Given the description of an element on the screen output the (x, y) to click on. 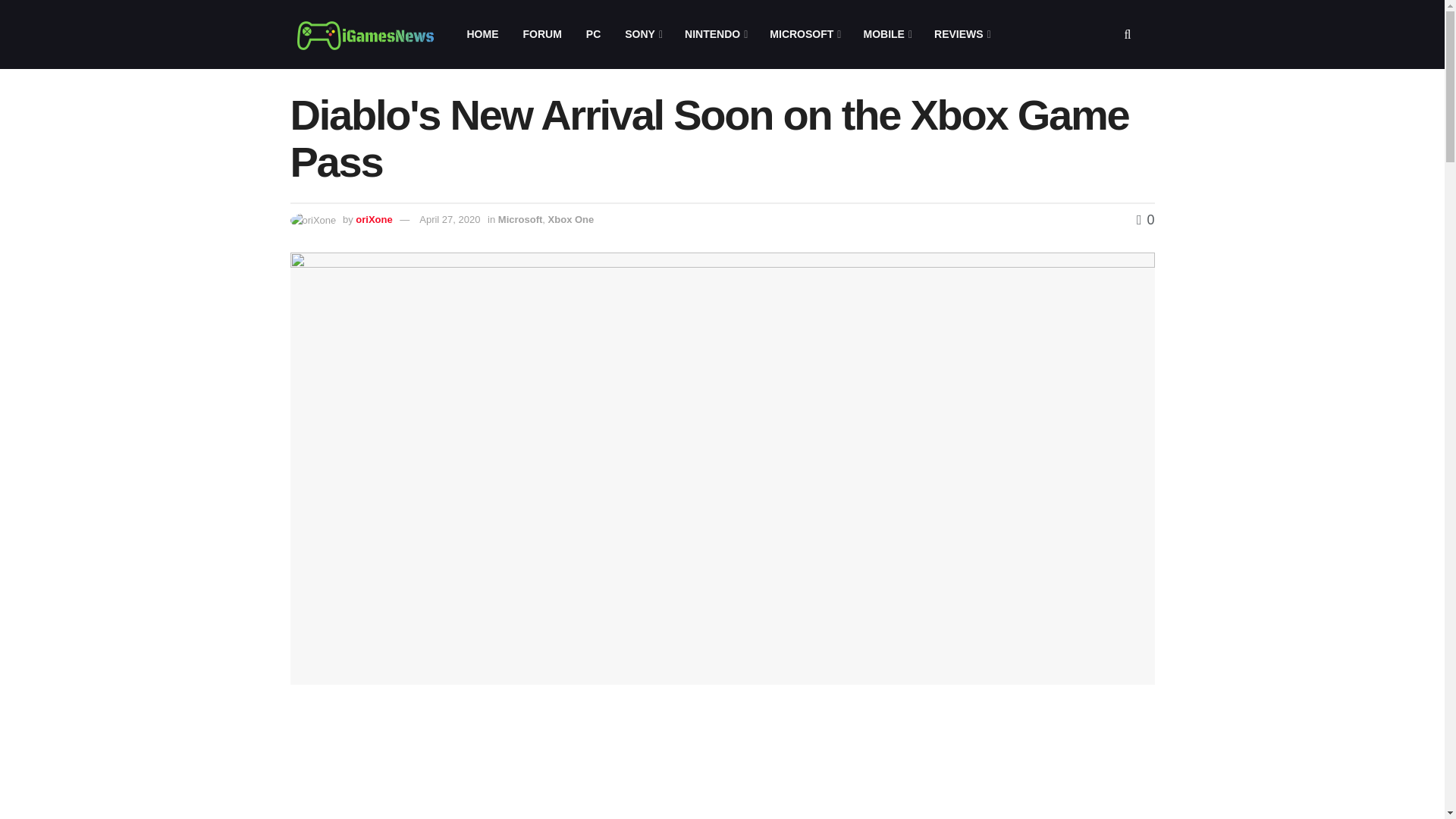
REVIEWS (961, 34)
MICROSOFT (803, 34)
Advertisement (1023, 763)
MOBILE (885, 34)
NINTENDO (714, 34)
Advertisement (574, 763)
oriXone (373, 219)
FORUM (542, 34)
